Given the description of an element on the screen output the (x, y) to click on. 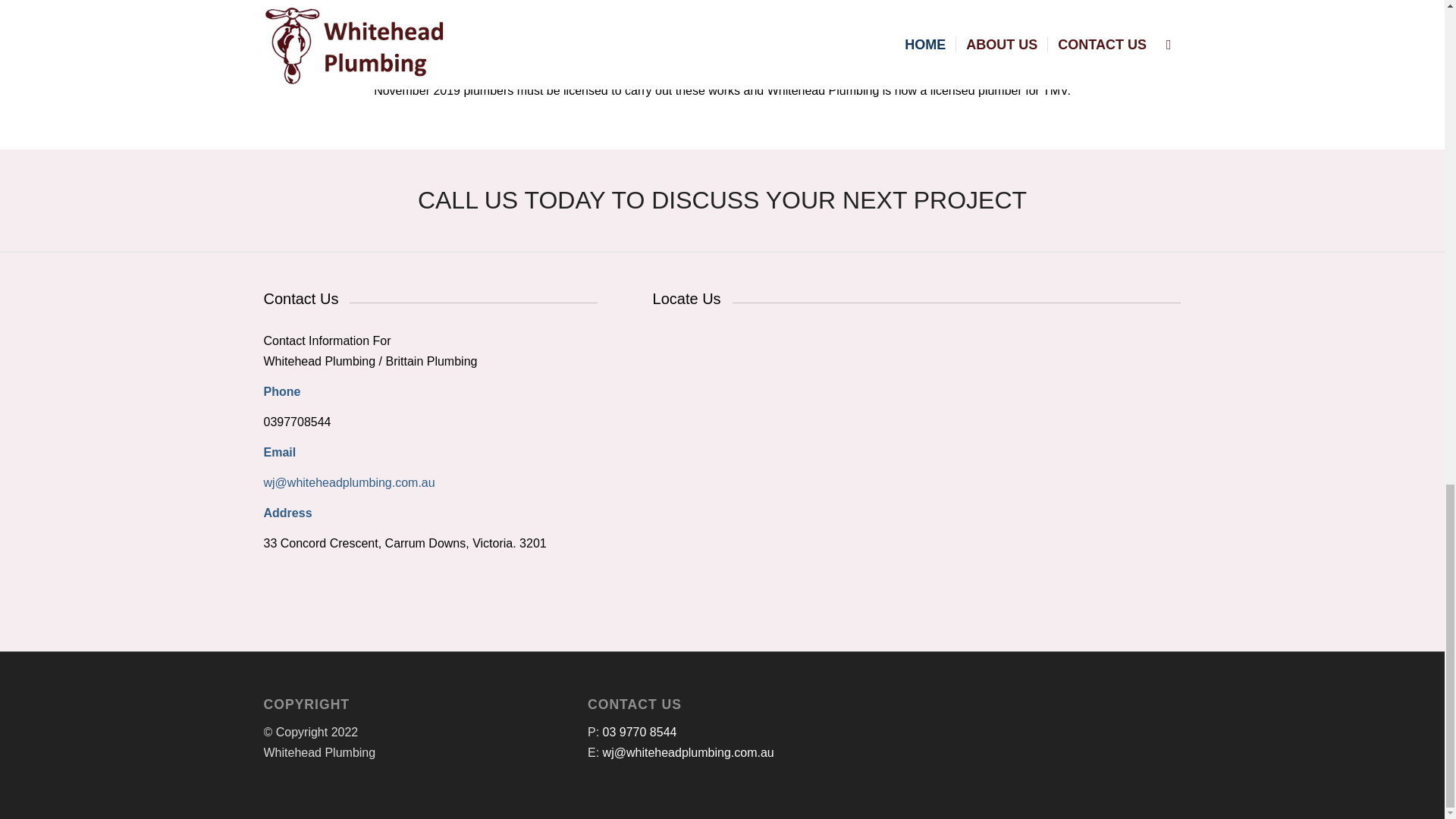
03 9770 8544 (639, 731)
